Given the description of an element on the screen output the (x, y) to click on. 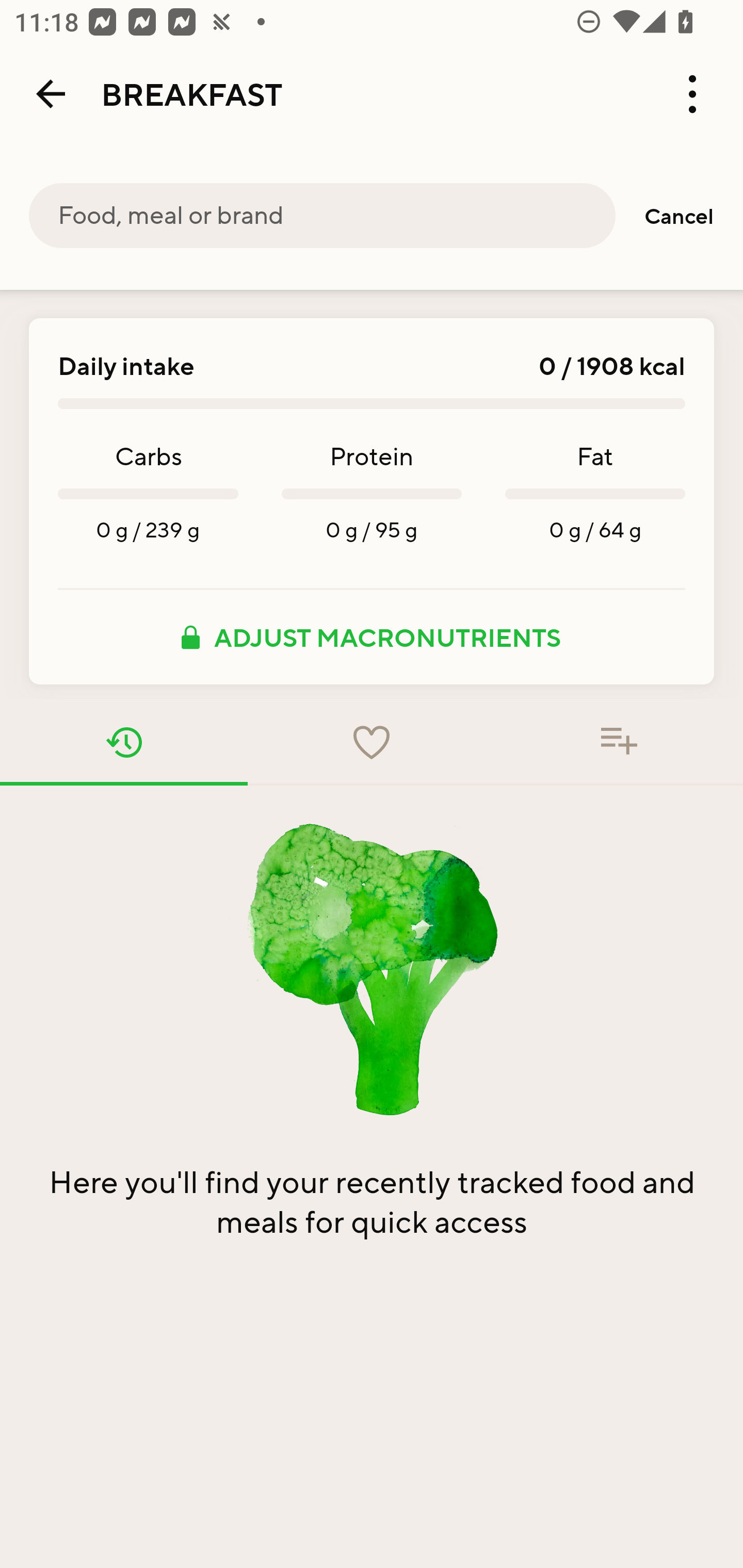
Back (50, 93)
Cancel (679, 215)
ADJUST MACRONUTRIENTS (371, 637)
Favorites (371, 742)
Food added (619, 742)
